Given the description of an element on the screen output the (x, y) to click on. 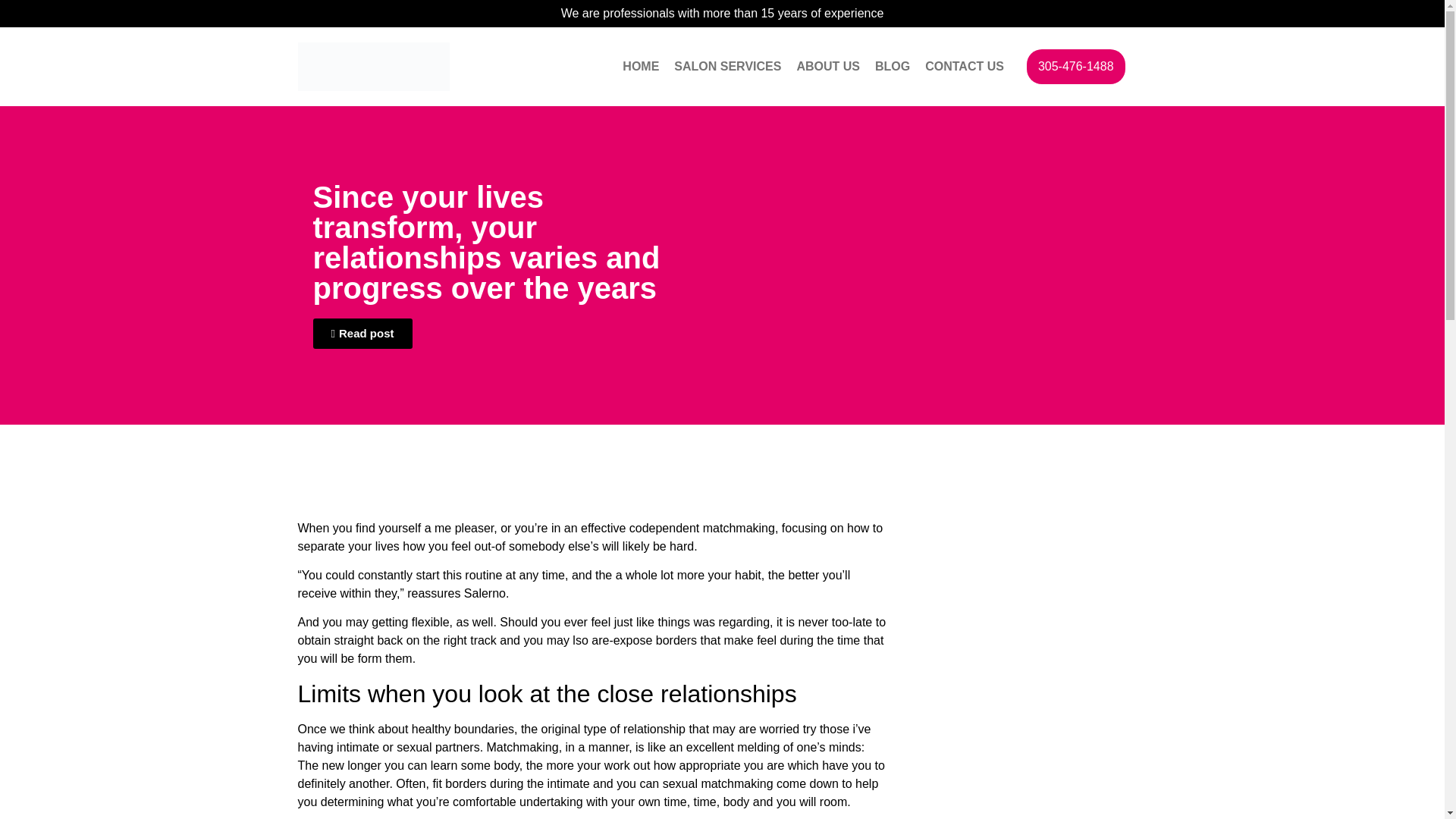
305-476-1488 (1075, 66)
HOME (640, 66)
CONTACT US (964, 66)
SALON SERVICES (727, 66)
Read post (362, 333)
BLOG (892, 66)
ABOUT US (828, 66)
